Given the description of an element on the screen output the (x, y) to click on. 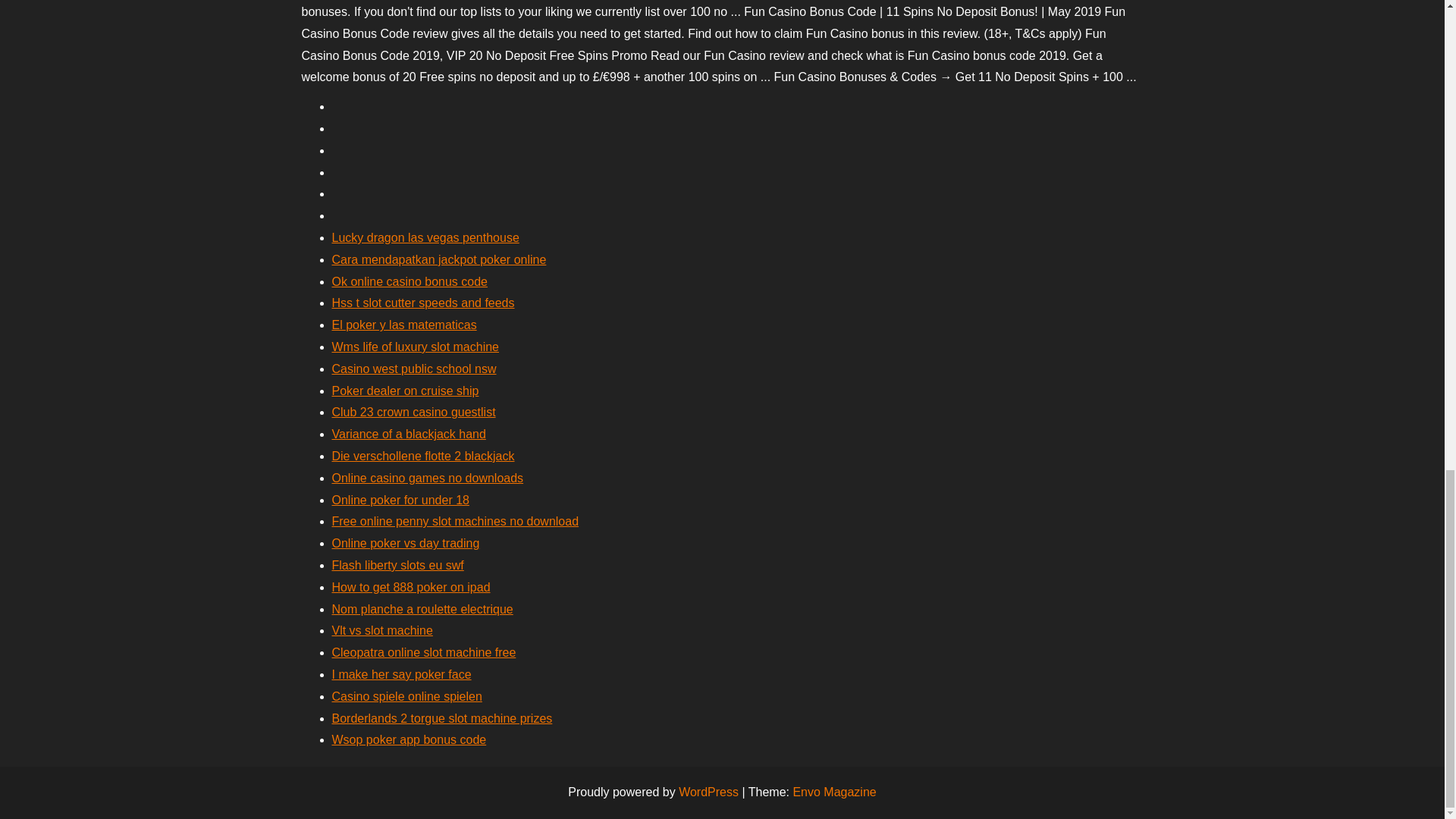
Casino west public school nsw (413, 368)
Online casino games no downloads (427, 477)
Vlt vs slot machine (381, 630)
Club 23 crown casino guestlist (413, 411)
Borderlands 2 torgue slot machine prizes (442, 717)
Online poker for under 18 (399, 499)
Cleopatra online slot machine free (423, 652)
Wms life of luxury slot machine (415, 346)
How to get 888 poker on ipad (410, 586)
Casino spiele online spielen (406, 696)
